Given the description of an element on the screen output the (x, y) to click on. 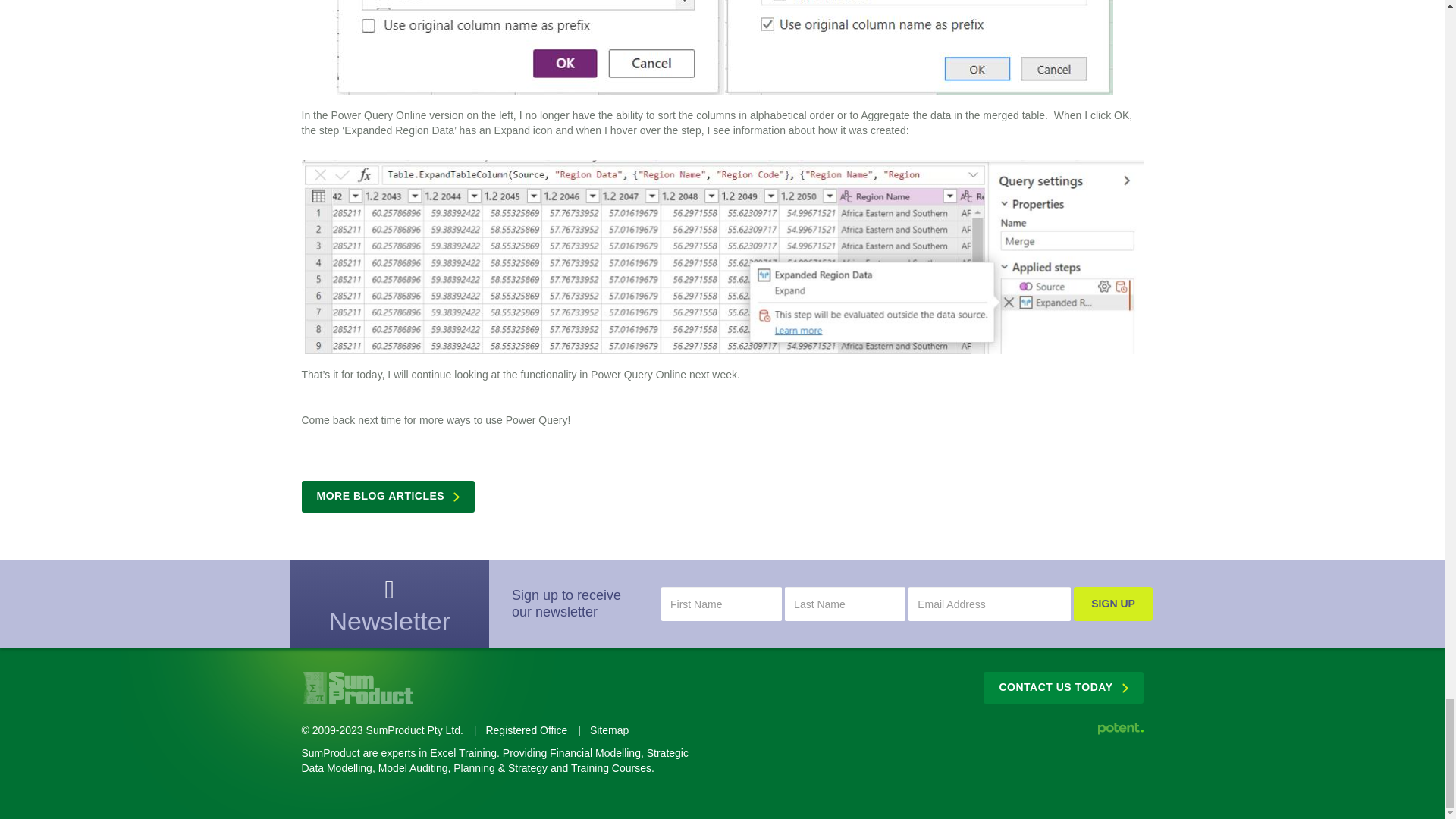
CONTACT US TODAY (1063, 687)
Registered Office (525, 729)
Sitemap (608, 729)
MORE BLOG ARTICLES (388, 496)
SIGN UP (1113, 603)
